Given the description of an element on the screen output the (x, y) to click on. 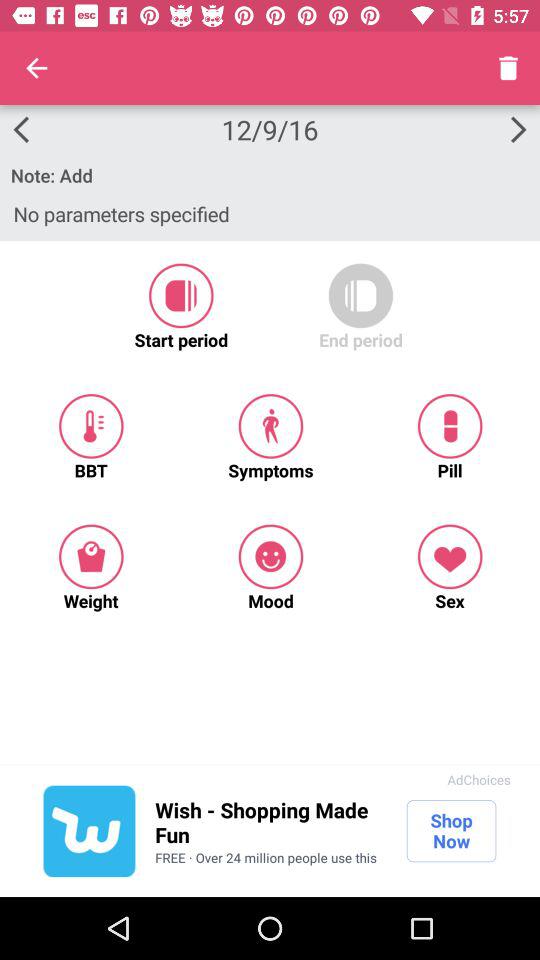
open advertisement (89, 831)
